Given the description of an element on the screen output the (x, y) to click on. 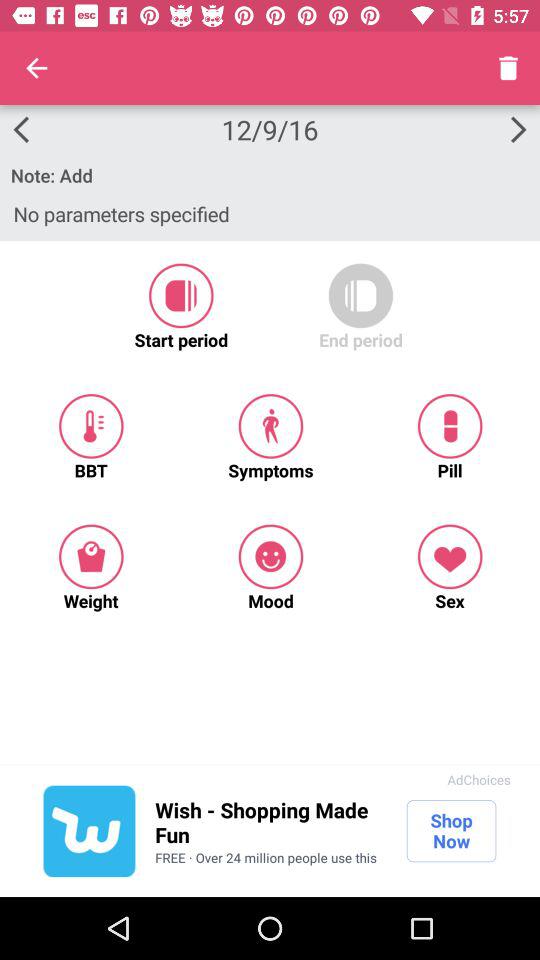
open advertisement (89, 831)
